Given the description of an element on the screen output the (x, y) to click on. 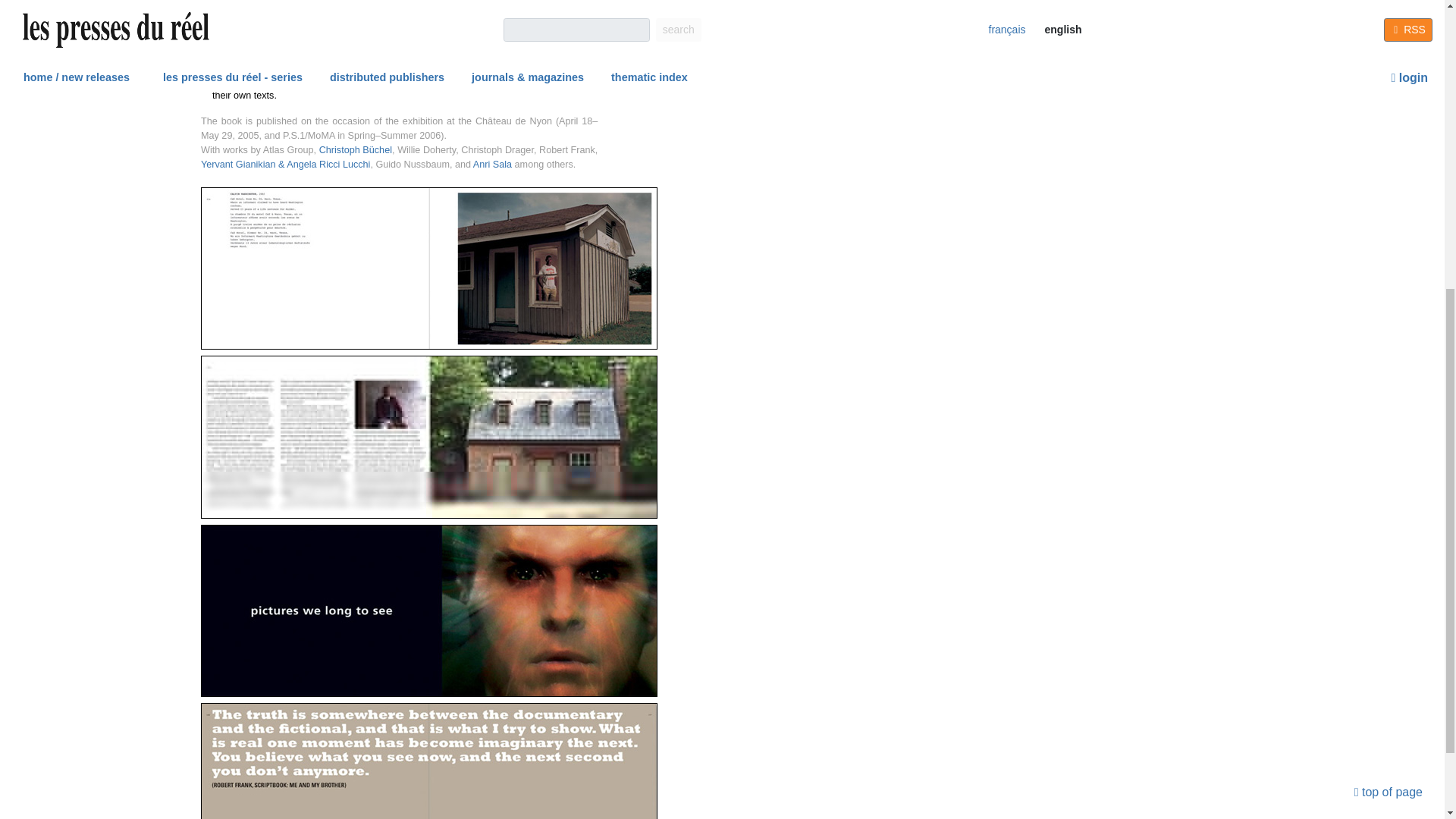
Anri Sala (492, 163)
